Given the description of an element on the screen output the (x, y) to click on. 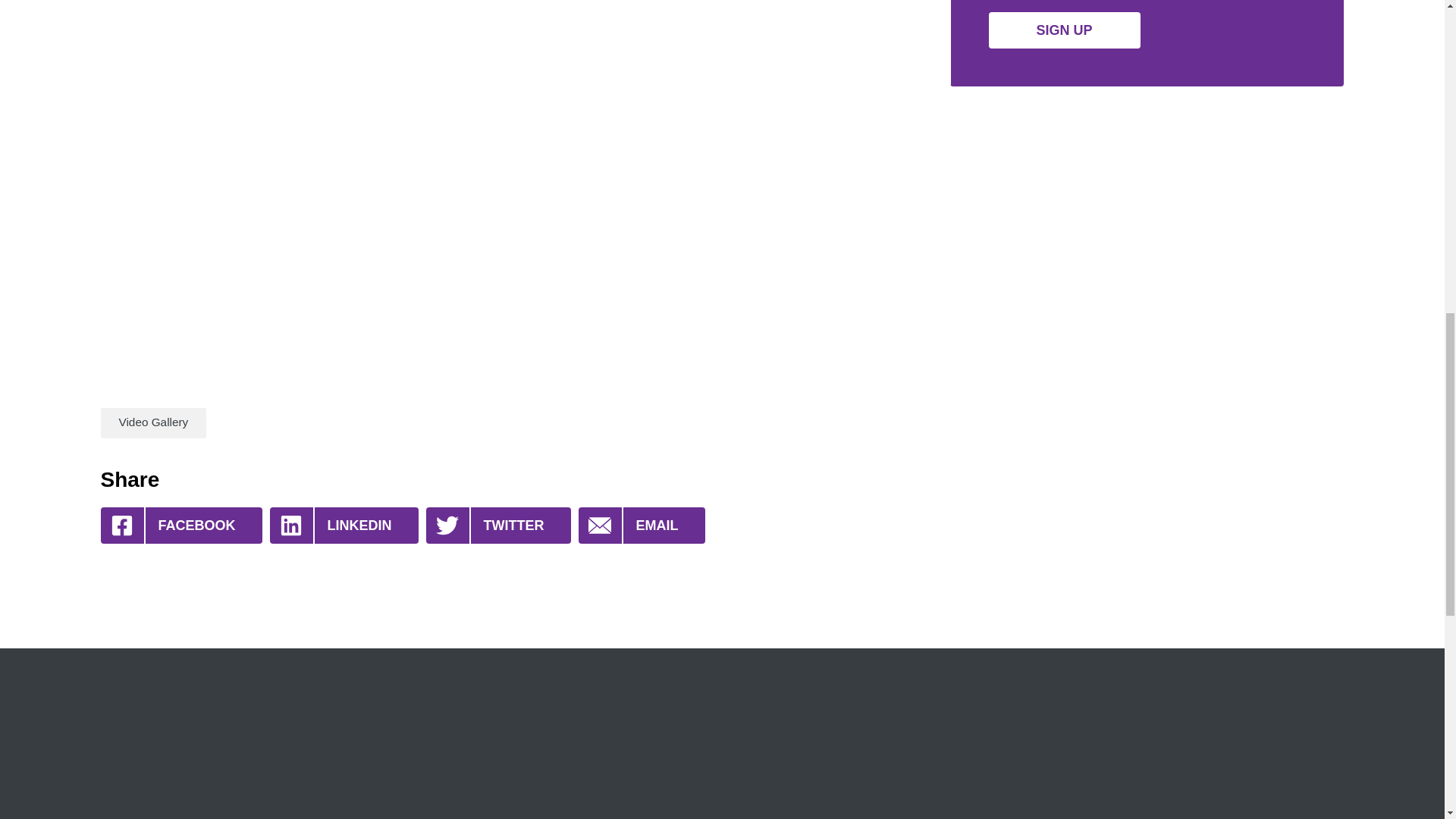
LINKEDIN (344, 524)
Share by Facebook (181, 524)
Sign Up (1064, 30)
Share by Email (641, 524)
Video Gallery (153, 422)
TWITTER (498, 524)
Share by Twitter (498, 524)
Share by Linkedin (344, 524)
EMAIL (641, 524)
FACEBOOK (181, 524)
